Given the description of an element on the screen output the (x, y) to click on. 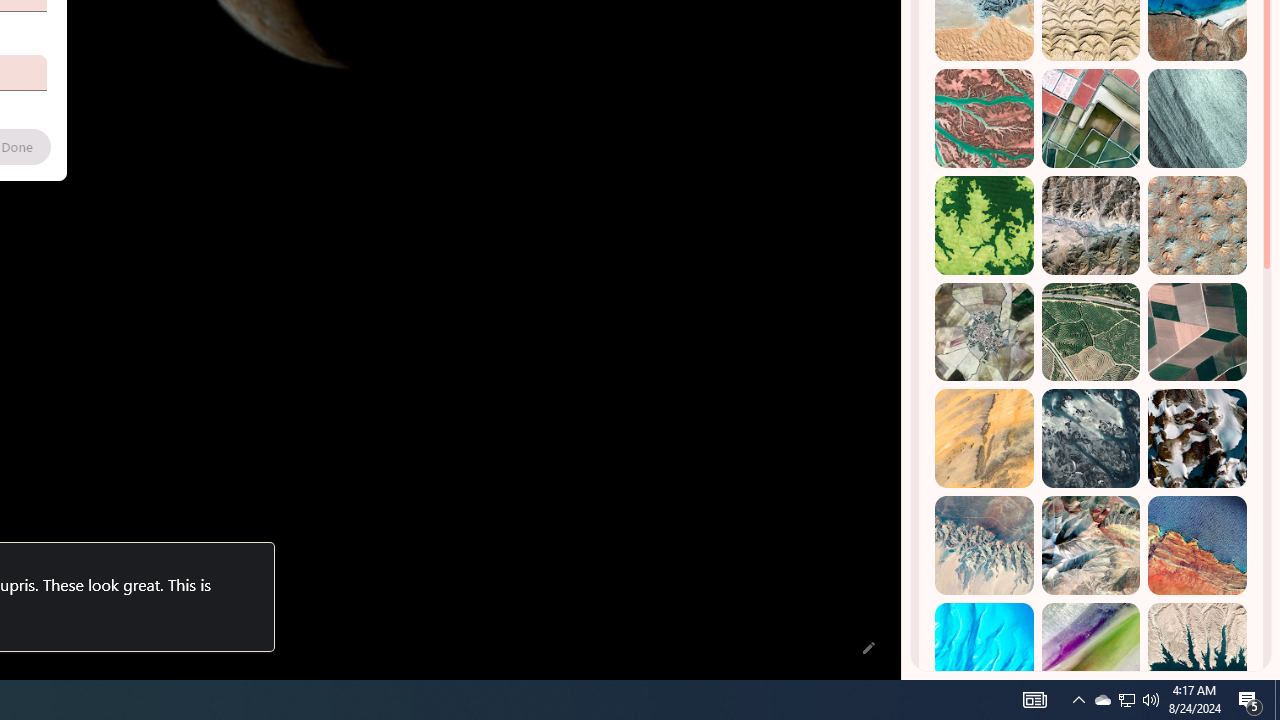
Davis County, United States (1090, 651)
Isla Cristina, Spain (1090, 332)
South Eleuthera, The Bahamas (984, 651)
Antarctica (1197, 438)
Utrera, Spain (1197, 332)
Rikaze, China (1090, 225)
Granville, France (1090, 438)
Aigues-Mortes, France (1090, 119)
Qesm Al Wahat Ad Dakhlah, Egypt (984, 545)
Ngari, China (1090, 545)
Dekese, DR Congo (984, 225)
Hainan, China (1197, 651)
Ouargla, Algeria (1197, 225)
